Given the description of an element on the screen output the (x, y) to click on. 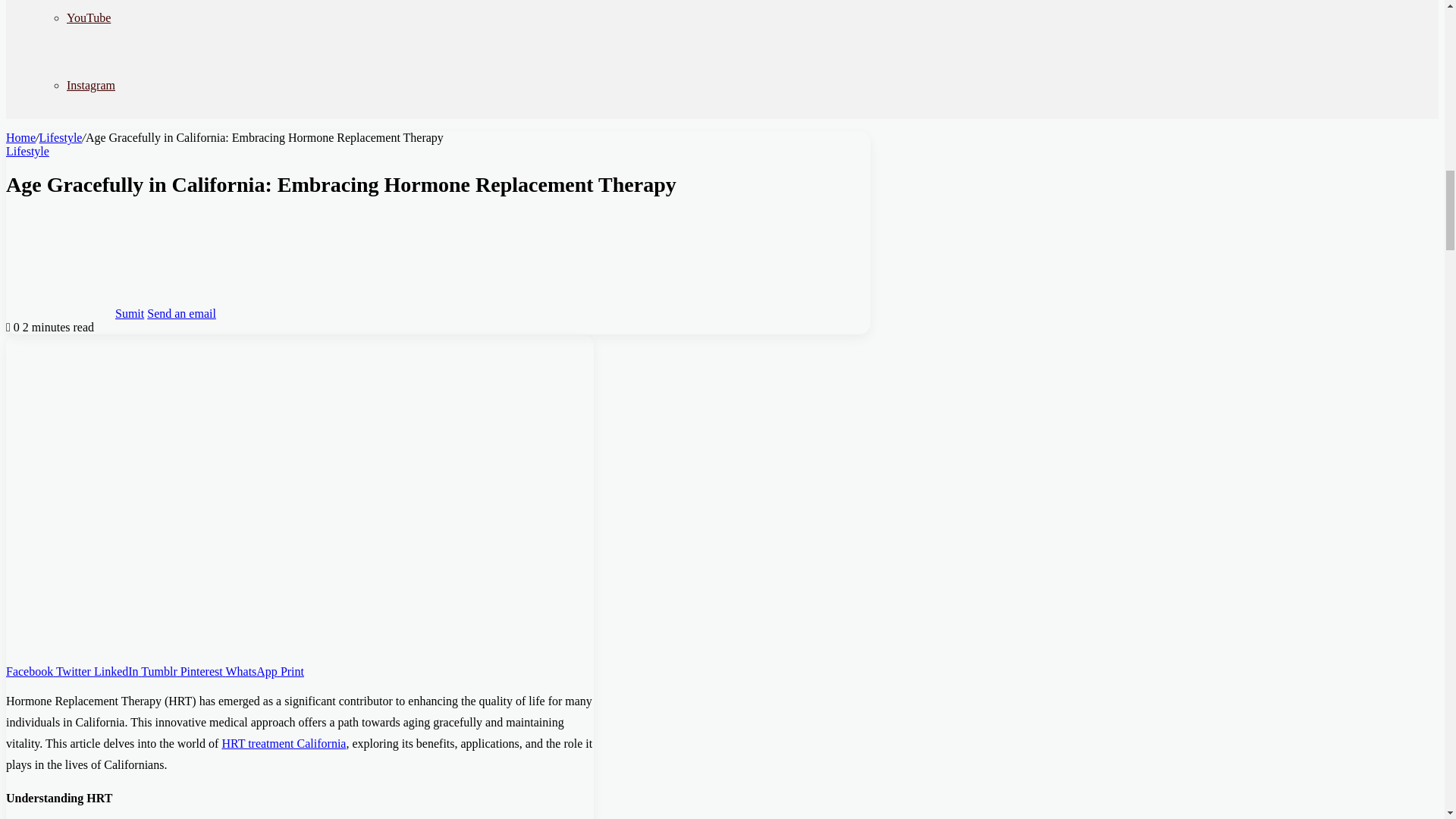
Lifestyle (60, 137)
Instagram (90, 84)
Sumit (129, 312)
Home (19, 137)
Facebook (30, 670)
Sumit (129, 312)
YouTube (88, 17)
Lifestyle (27, 151)
LinkedIn (117, 670)
LinkedIn (117, 670)
